Given the description of an element on the screen output the (x, y) to click on. 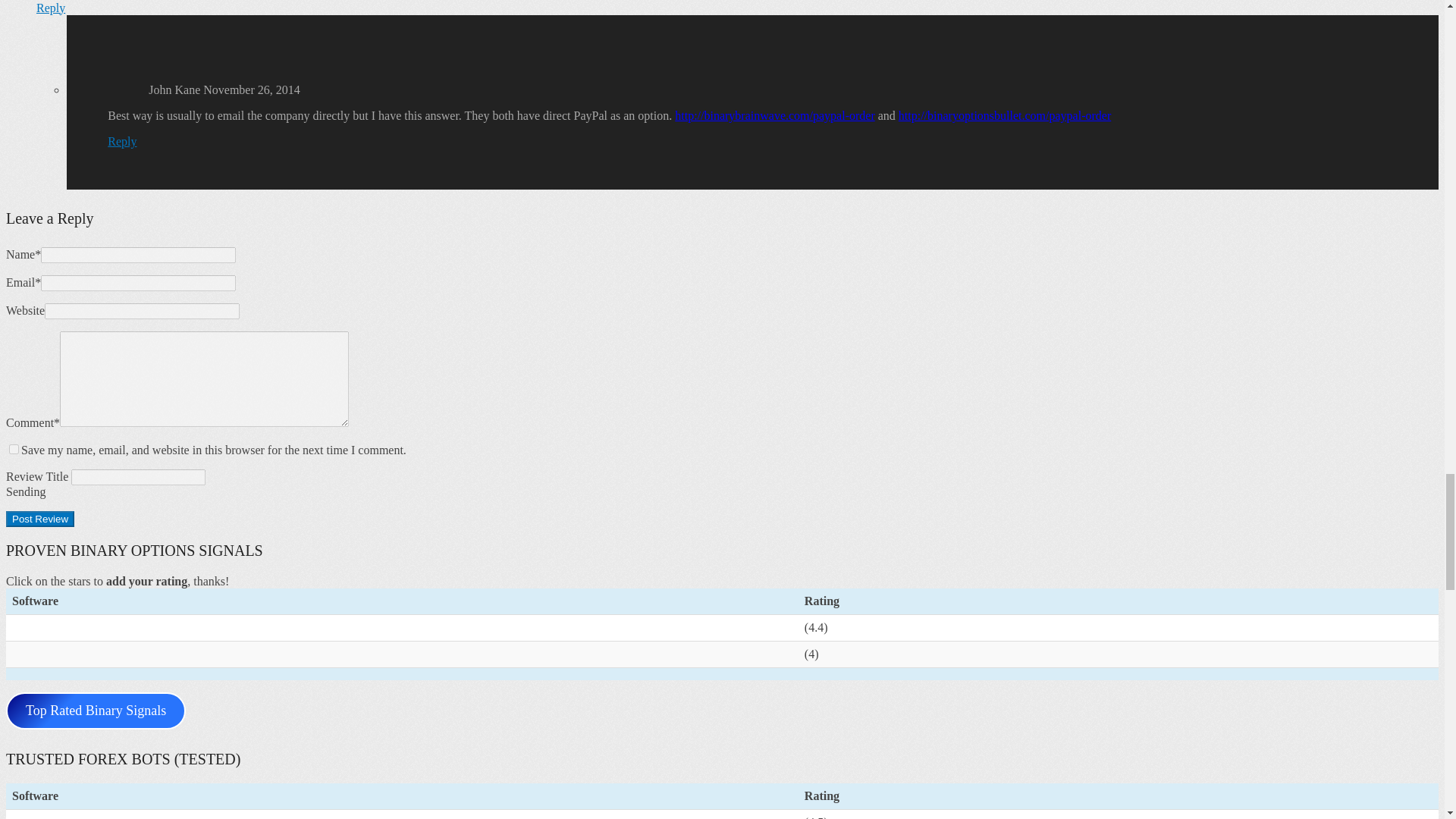
Post Review (39, 519)
Reply (121, 141)
yes (13, 449)
Reply (50, 7)
Post Review (39, 519)
